Given the description of an element on the screen output the (x, y) to click on. 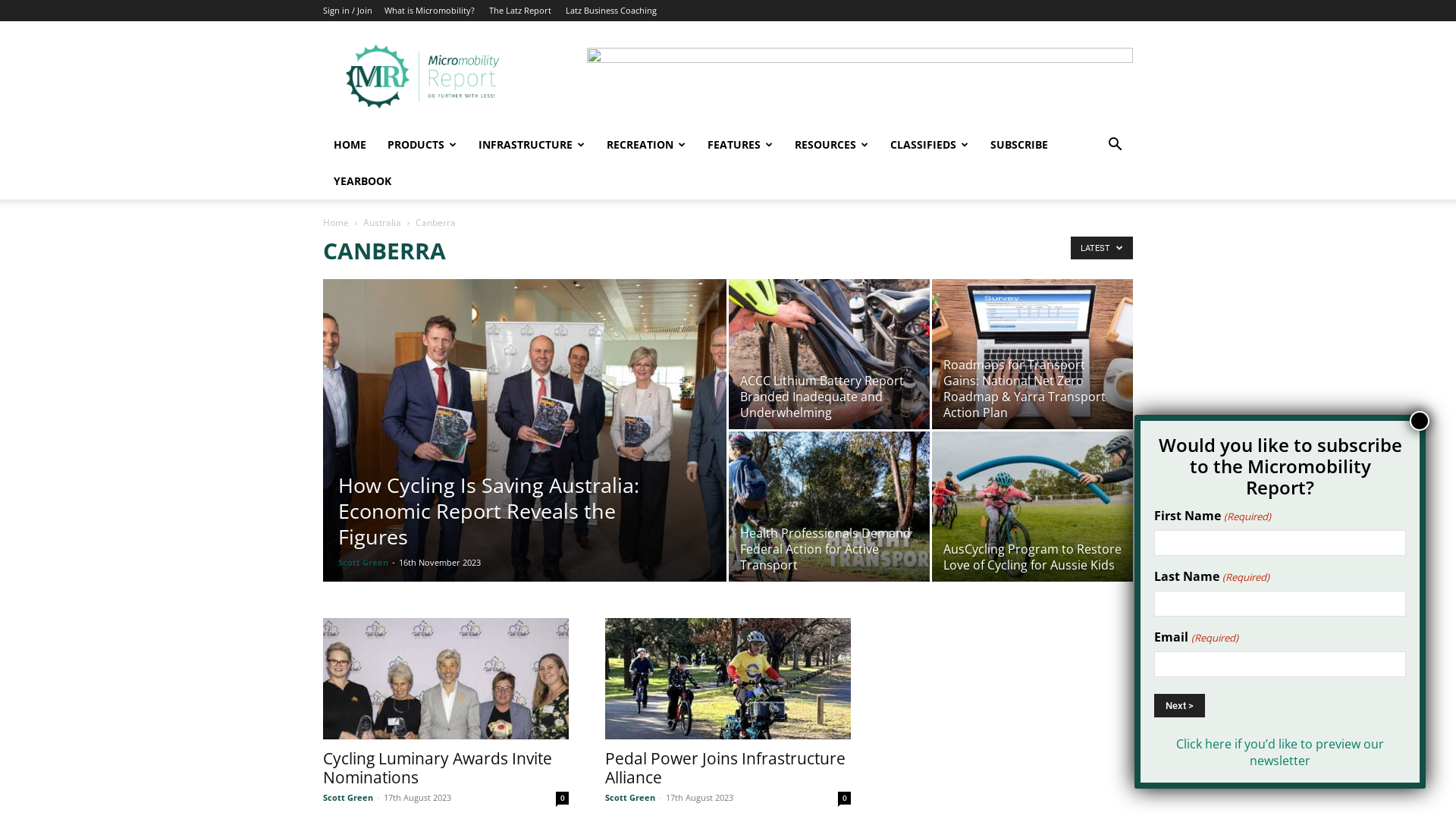
FEATURES Element type: text (734, 144)
CLASSIFIEDS Element type: text (923, 144)
Latz Business Coaching Element type: text (604, 9)
HOME Element type: text (343, 144)
What is Micromobility? Element type: text (424, 9)
RECREATION Element type: text (639, 144)
Scott Green Element type: text (357, 561)
Search Element type: text (1085, 205)
Home Element type: text (329, 222)
Scott Green Element type: text (624, 797)
INFRASTRUCTURE Element type: text (526, 144)
Cycling Luminary Awards Invite Nominations Element type: hover (445, 678)
Pedal Power Joins Infrastructure Alliance Element type: hover (727, 678)
PRODUCTS Element type: text (416, 144)
Sign in / Join Element type: text (341, 9)
Australia Element type: text (376, 222)
The Latz Report Element type: text (514, 9)
YEARBOOK Element type: text (355, 181)
SUBSCRIBE Element type: text (1012, 144)
Pedal Power Joins Infrastructure Alliance Element type: text (719, 767)
0 Element type: text (838, 797)
Cycling Luminary Awards Invite Nominations Element type: hover (439, 678)
Cycling Luminary Awards Invite Nominations Element type: text (431, 767)
RESOURCES Element type: text (825, 144)
Scott Green Element type: text (341, 797)
0 Element type: text (556, 797)
